Given the description of an element on the screen output the (x, y) to click on. 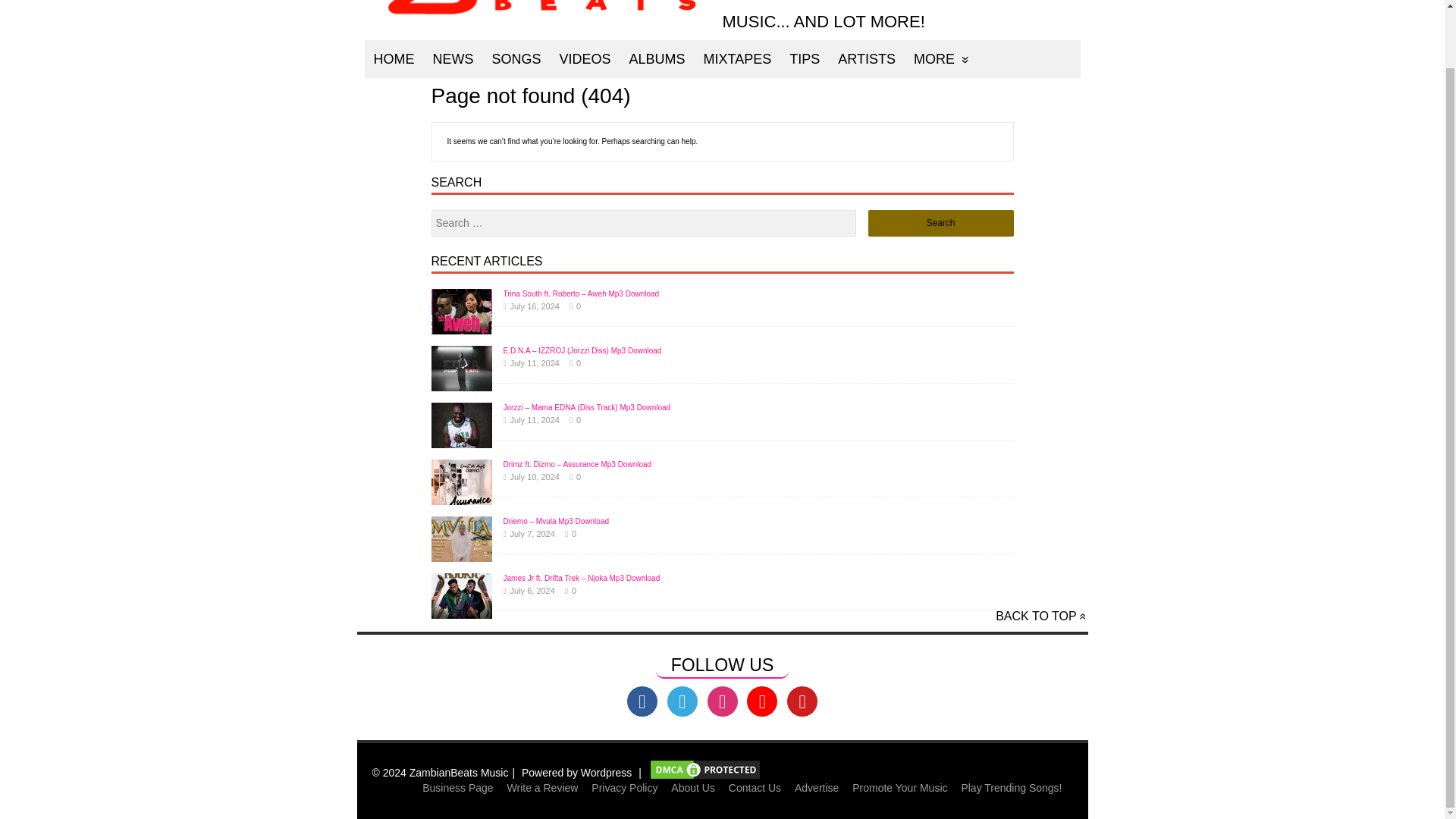
twitter (681, 701)
VIDEOS (585, 58)
Search (940, 222)
ALBUMS (657, 58)
SONGS (515, 58)
MORE (941, 58)
instagram (721, 701)
NEWS (452, 58)
ARTISTS (866, 58)
facebook (642, 701)
